Given the description of an element on the screen output the (x, y) to click on. 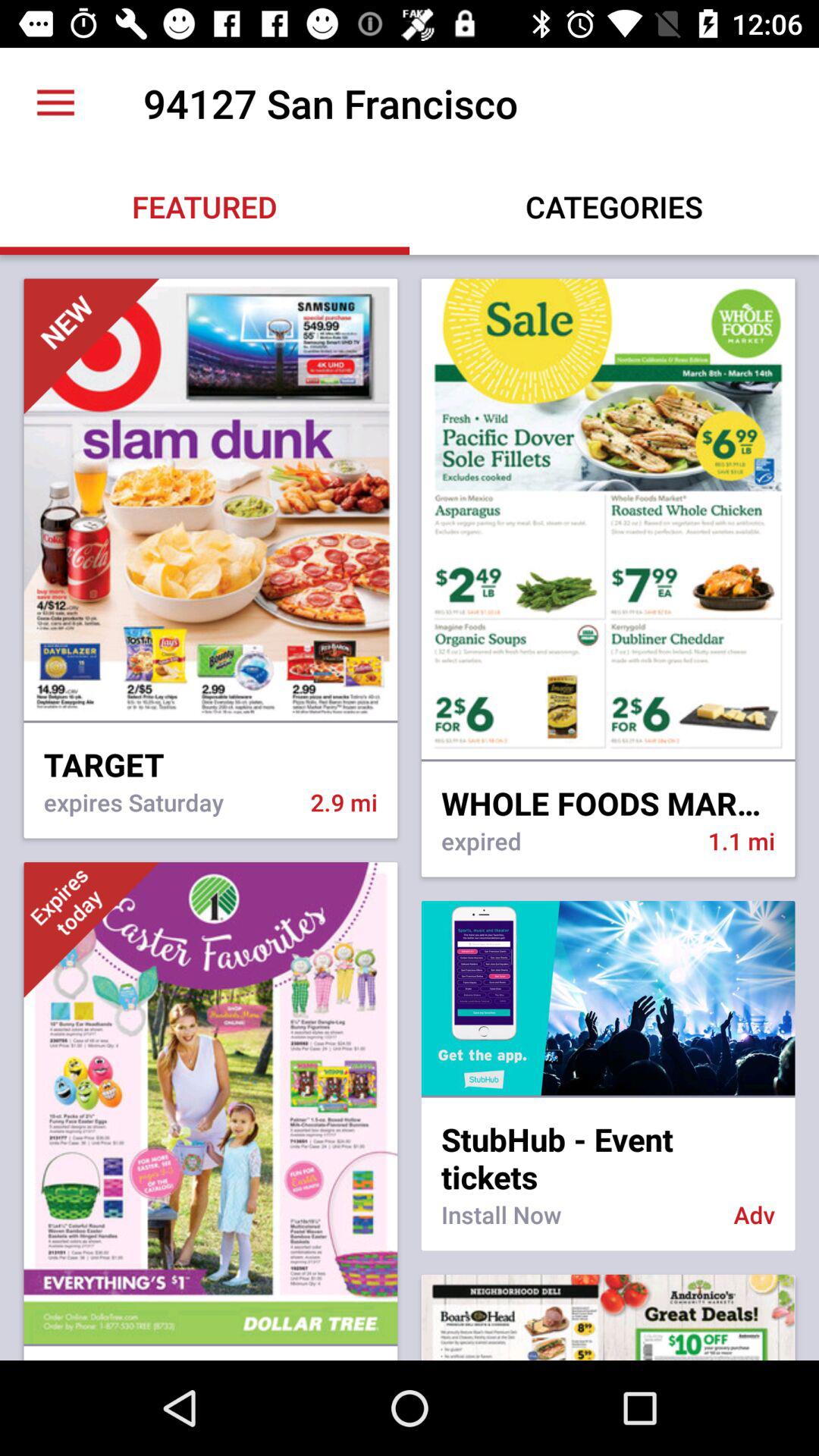
select third image (210, 1110)
select the first image (210, 558)
select the first image (210, 500)
select the third image (210, 1103)
select the third thumbnail (91, 929)
click on the second thumbnail (608, 520)
